Given the description of an element on the screen output the (x, y) to click on. 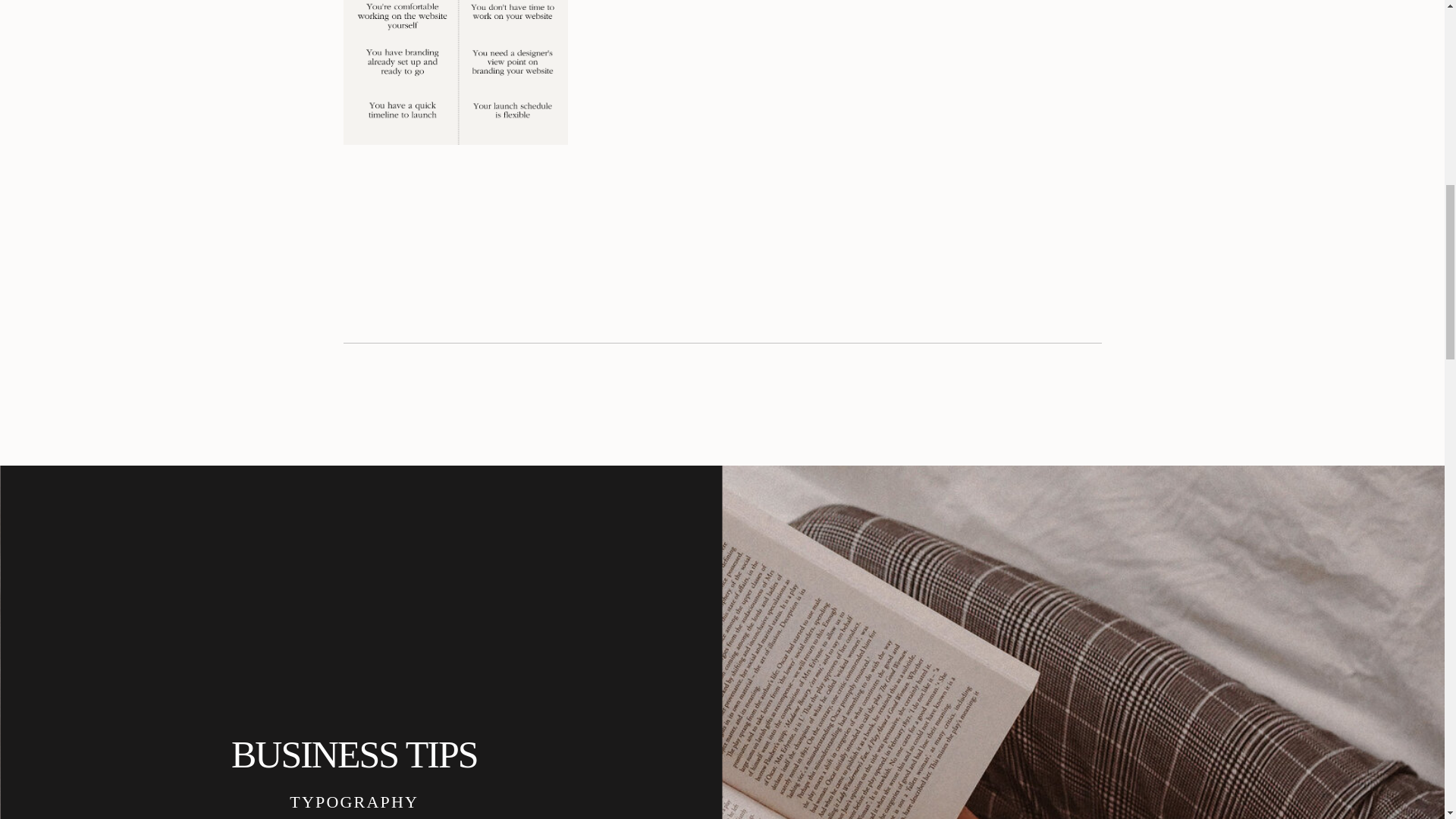
Showit Website Templates VS. Custom Showit  Design (454, 72)
TYPOGRAPHY (354, 800)
BUSINESS TIPS (354, 752)
